Given the description of an element on the screen output the (x, y) to click on. 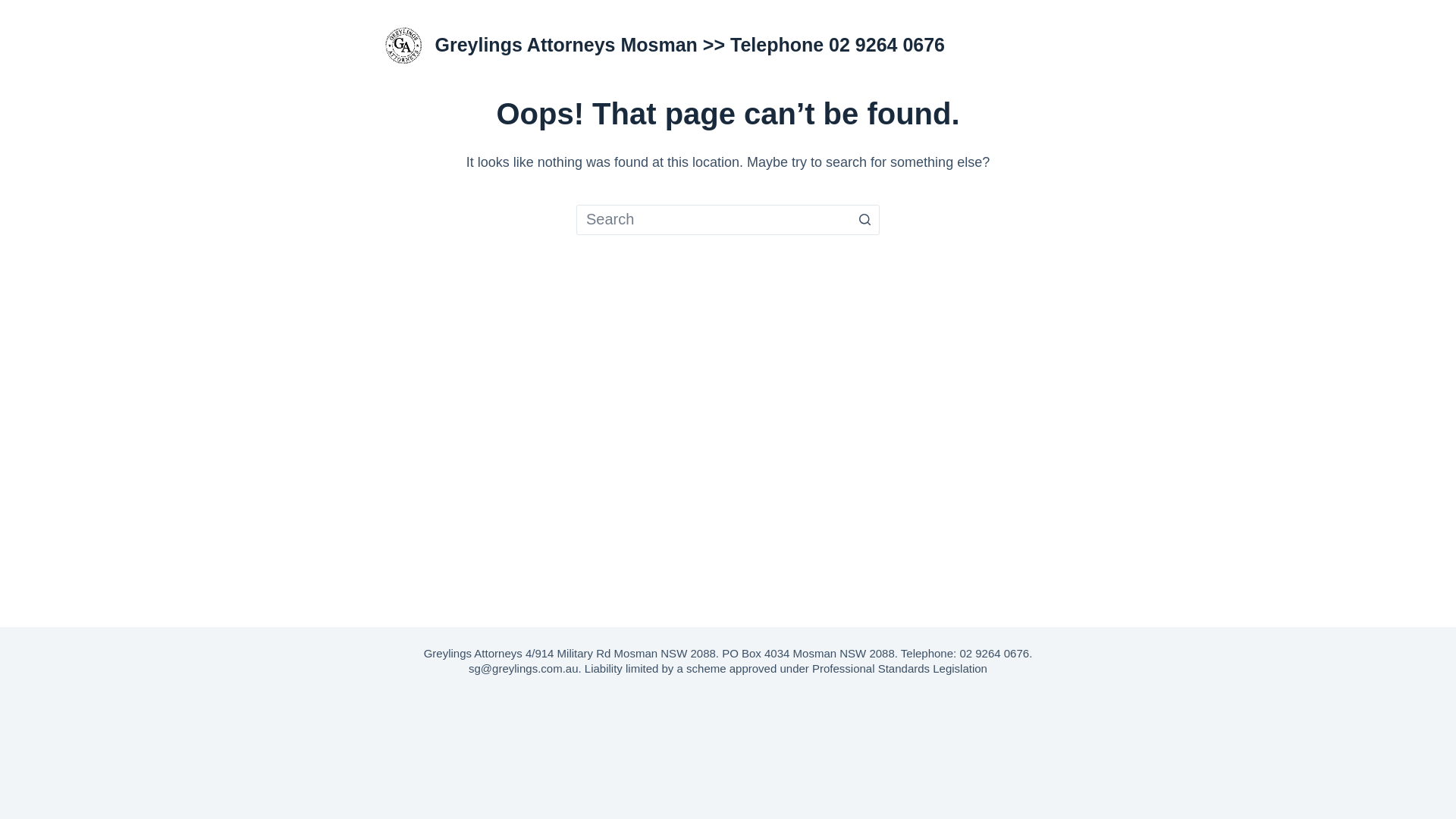
Search for... Element type: hover (727, 219)
Advertisement Element type: hover (727, 749)
Skip to content Element type: text (15, 7)
Greylings Attorneys Mosman >> Telephone 02 9264 0676 Element type: text (690, 44)
